Given the description of an element on the screen output the (x, y) to click on. 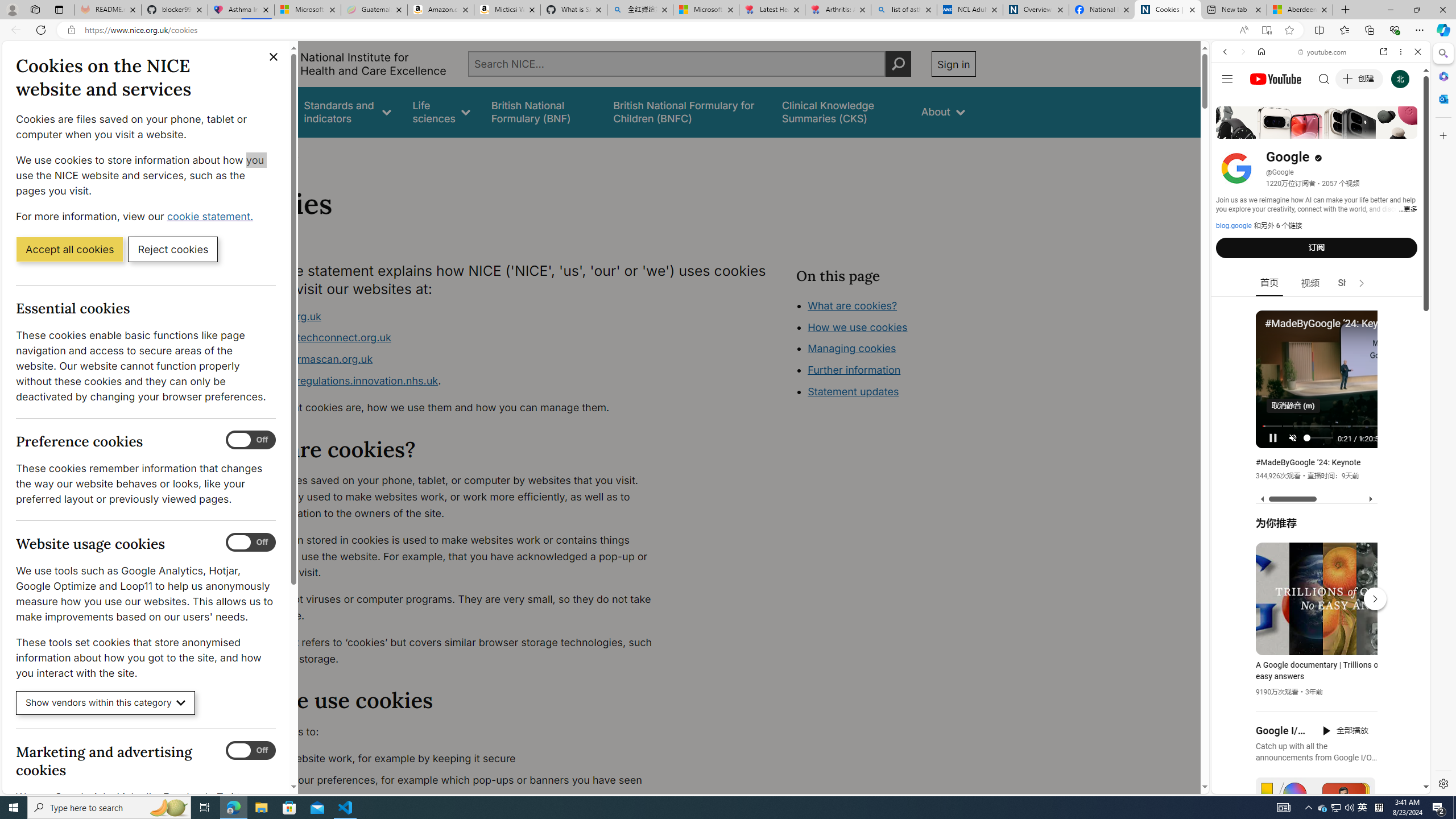
cookie statement. (Opens in a new window) (211, 215)
YouTube - YouTube (1315, 560)
Accept all cookies (69, 248)
Google (1320, 281)
blog.google (1233, 225)
Enter Immersive Reader (F9) (1266, 29)
How we use cookies (857, 327)
More options (1401, 51)
